Given the description of an element on the screen output the (x, y) to click on. 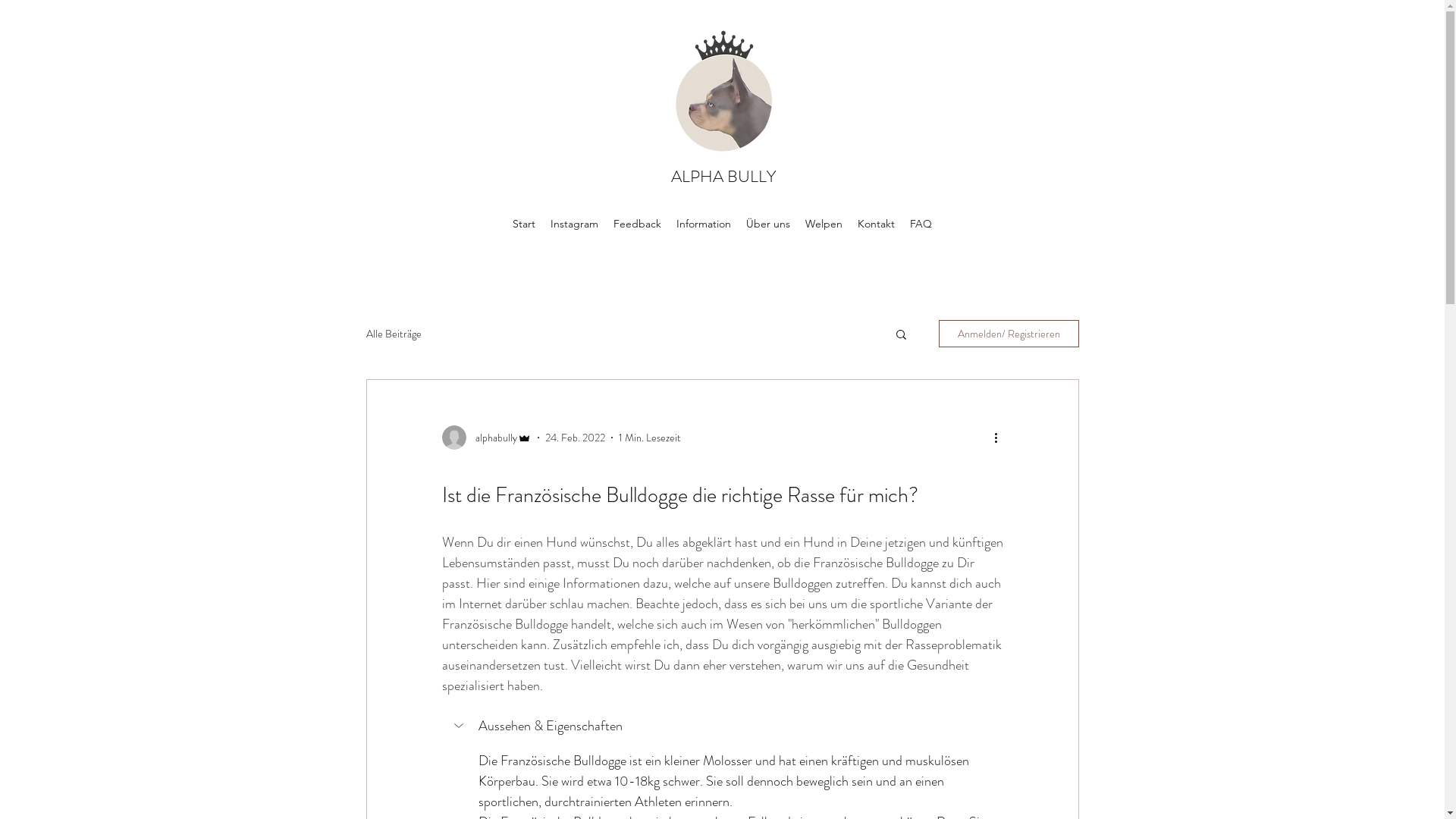
Kontakt Element type: text (876, 223)
ALPHA BULLY Element type: text (723, 176)
Welpen Element type: text (823, 223)
Feedback Element type: text (636, 223)
Anmelden/ Registrieren Element type: text (1008, 333)
Information Element type: text (703, 223)
Start Element type: text (523, 223)
Instagram Element type: text (573, 223)
FAQ Element type: text (920, 223)
